Given the description of an element on the screen output the (x, y) to click on. 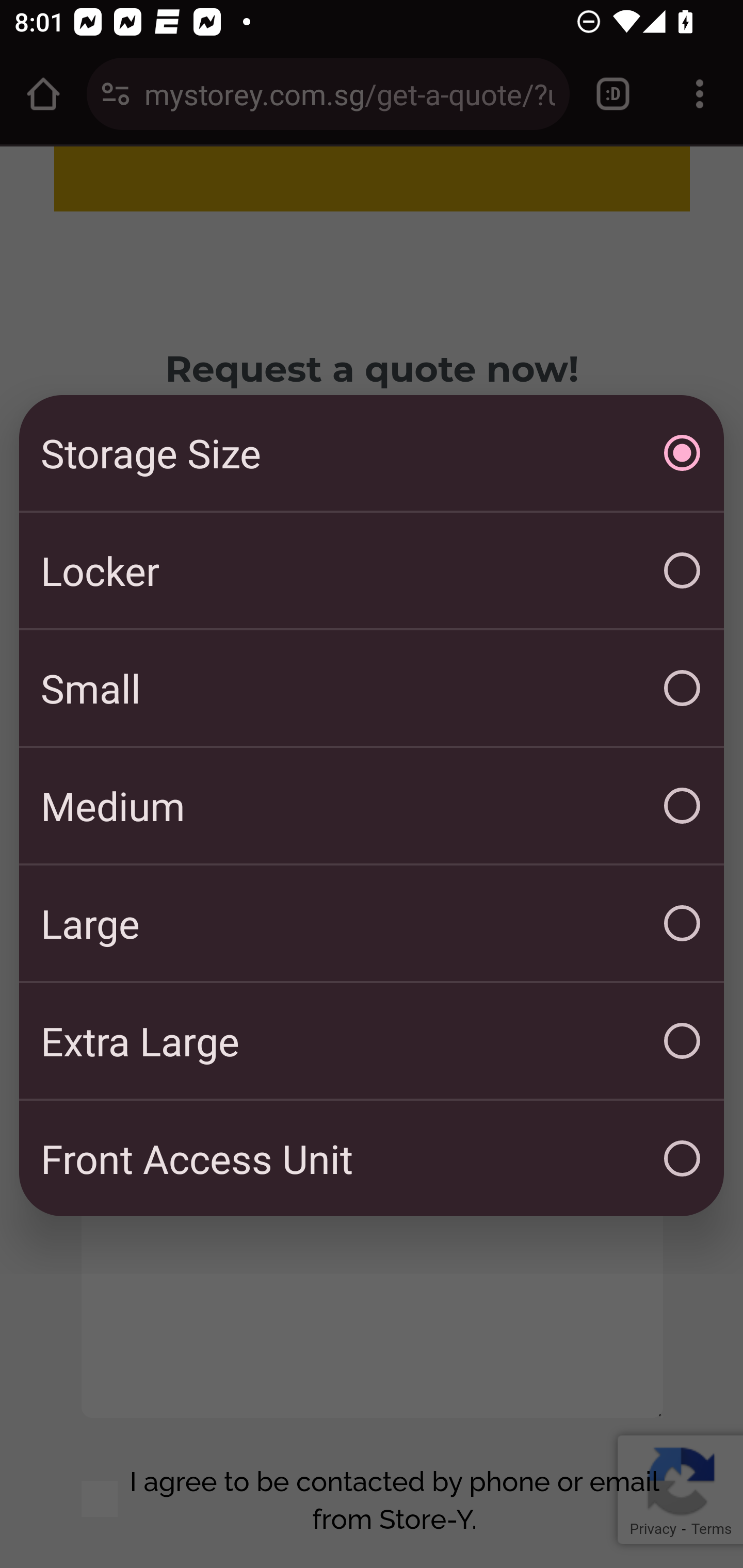
Storage Size (371, 453)
Locker (371, 570)
Small (371, 688)
Medium (371, 805)
Large (371, 923)
Extra Large (371, 1041)
Front Access Unit (371, 1158)
